Given the description of an element on the screen output the (x, y) to click on. 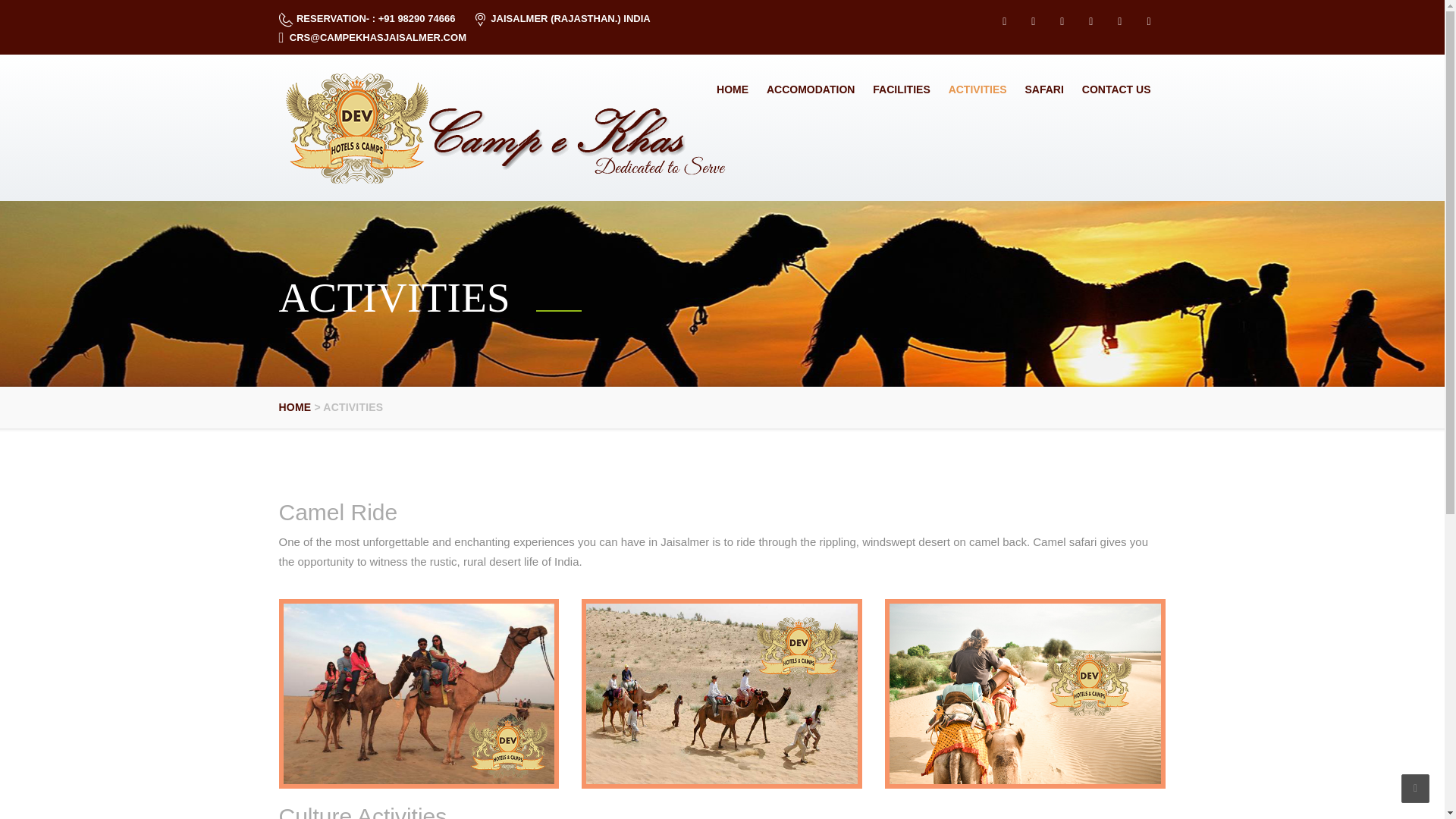
HOME (295, 407)
camel-safari-rajasthan (721, 693)
HOME (732, 89)
CONTACT US (1116, 89)
SAFARI (1044, 89)
ACTIVITIES (977, 89)
jaisalmer-camel-safari (418, 693)
camel-safari-in-jaisalamer-desert-0087 (1024, 693)
FACILITIES (900, 89)
Go to Home. (295, 407)
ACCOMODATION (809, 89)
